Given the description of an element on the screen output the (x, y) to click on. 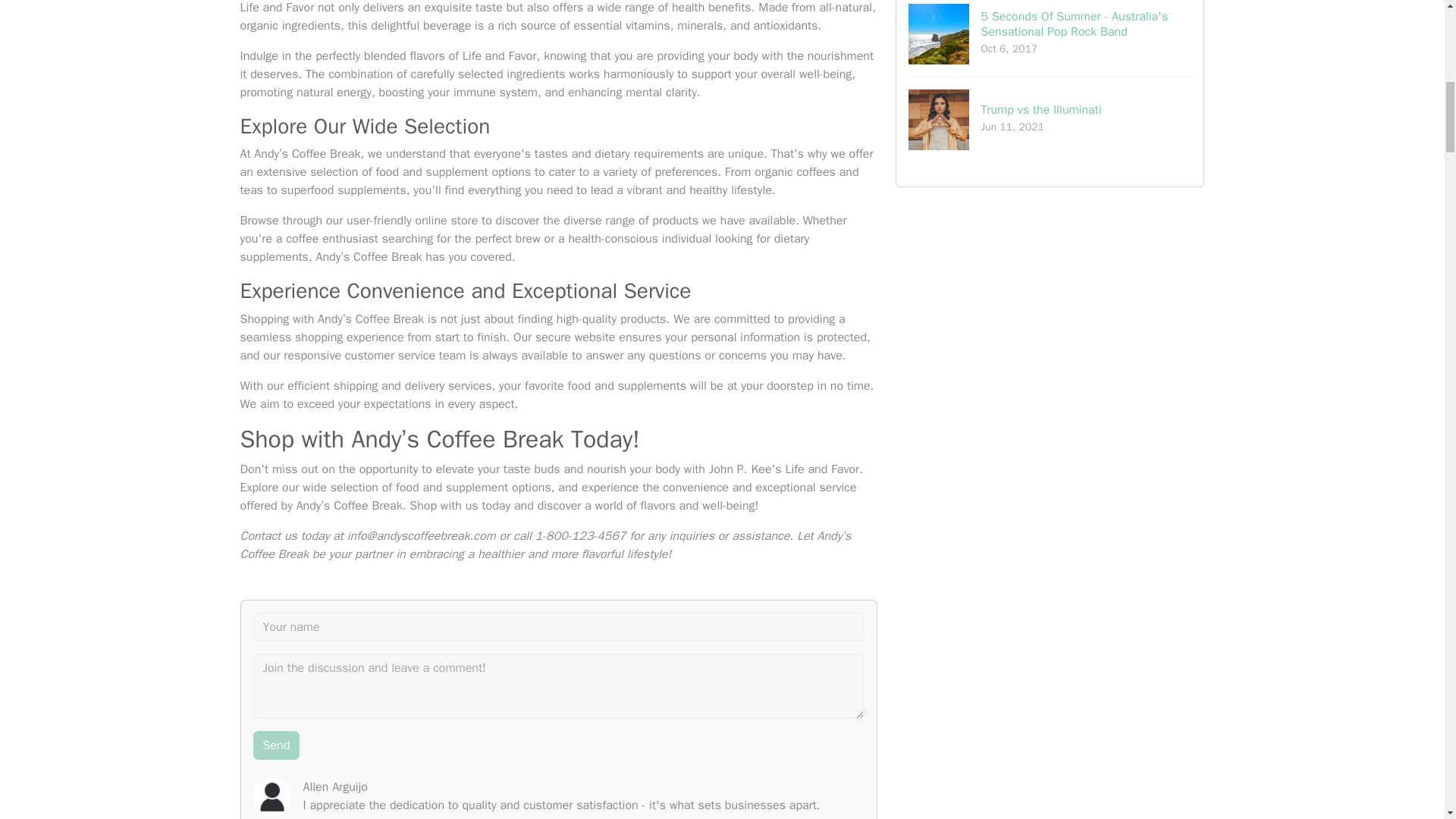
Send (276, 745)
Send (1050, 119)
